Given the description of an element on the screen output the (x, y) to click on. 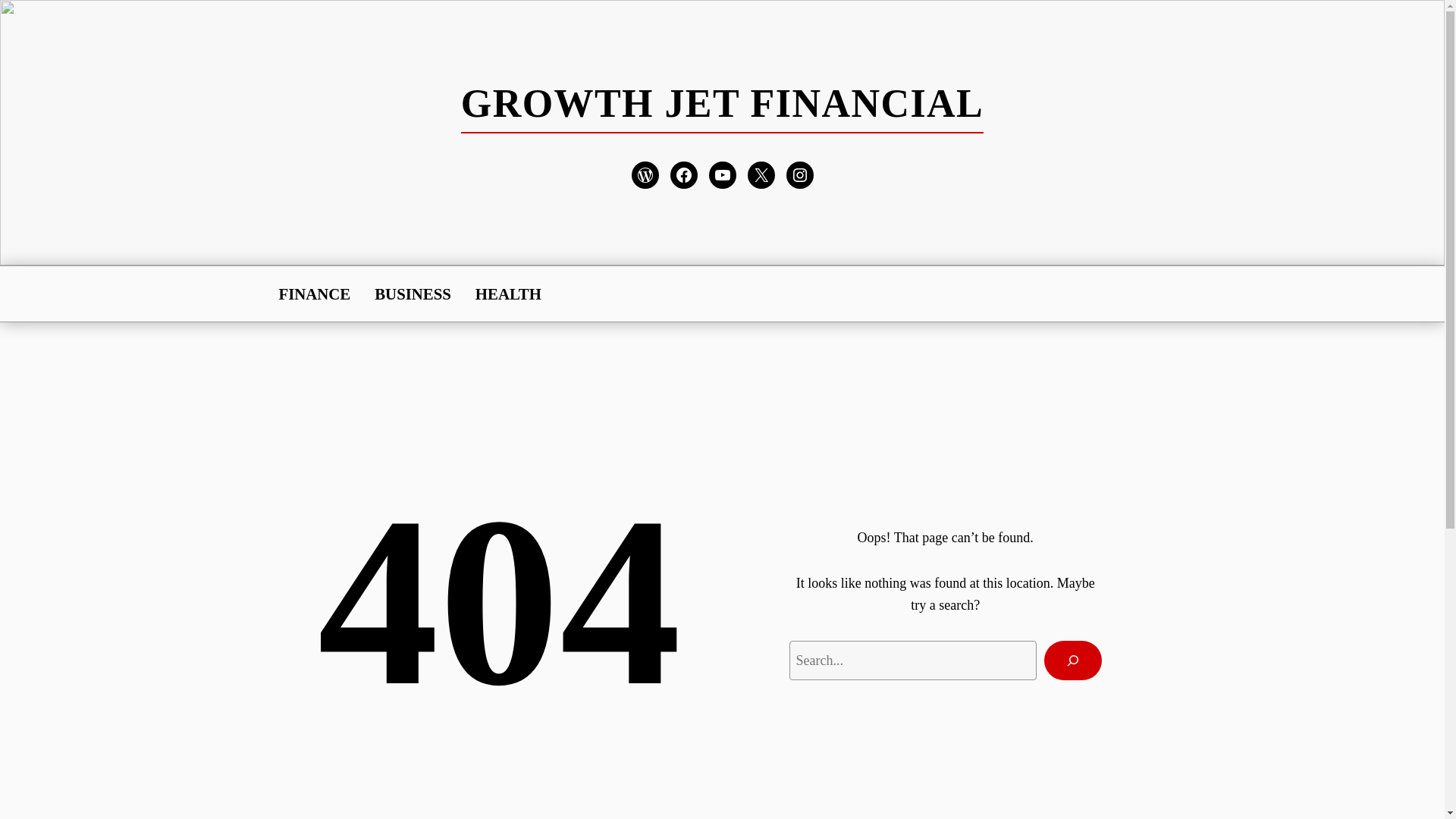
YouTube (721, 175)
FINANCE (314, 293)
HEALTH (508, 293)
Facebook (683, 175)
GROWTH JET FINANCIAL (722, 103)
X (761, 175)
BUSINESS (412, 293)
WordPress (644, 175)
Instagram (799, 175)
